Given the description of an element on the screen output the (x, y) to click on. 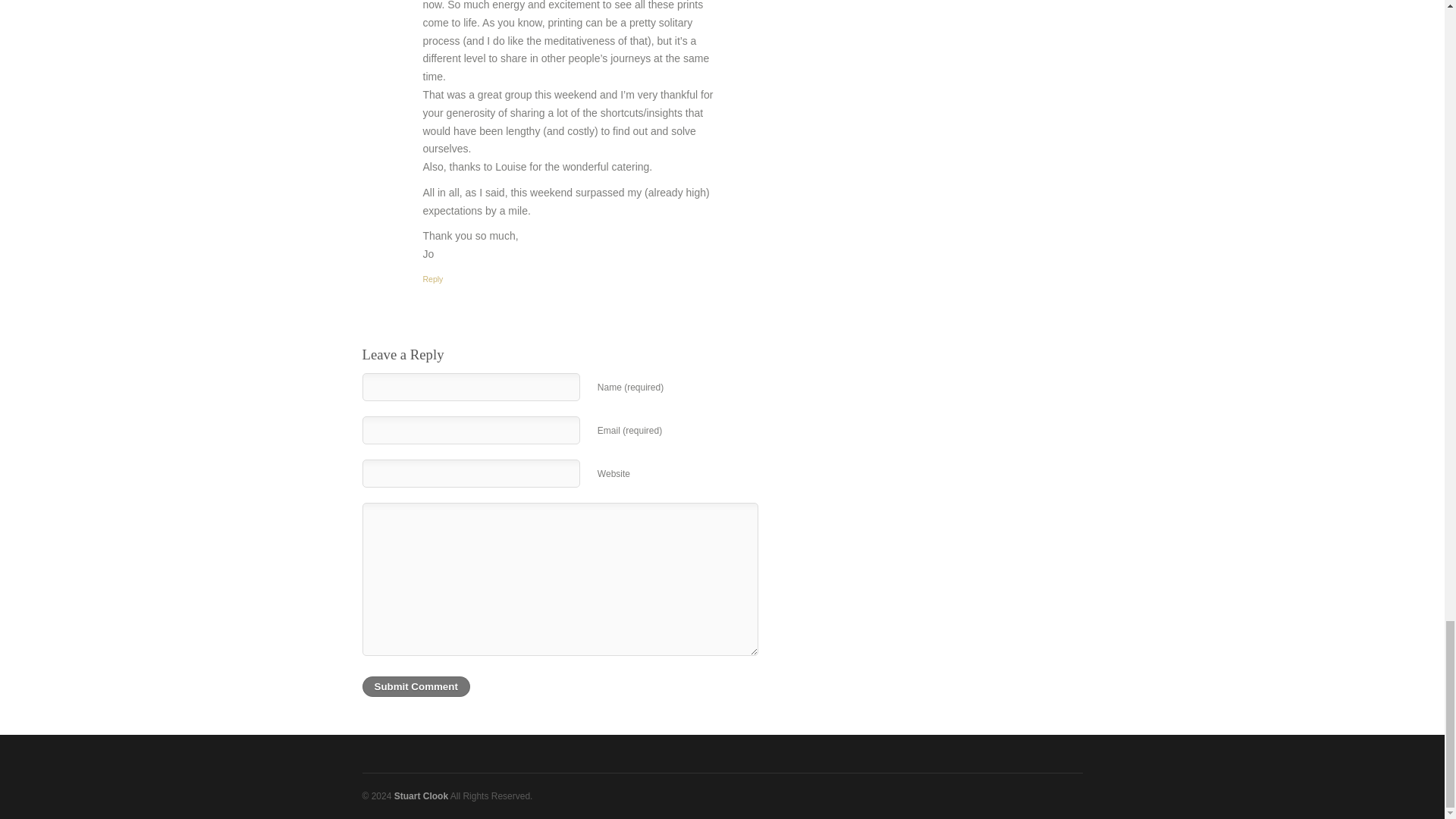
Stuart Clook (421, 796)
Submit Comment (416, 686)
Submit Comment (416, 686)
Reply (433, 278)
